Given the description of an element on the screen output the (x, y) to click on. 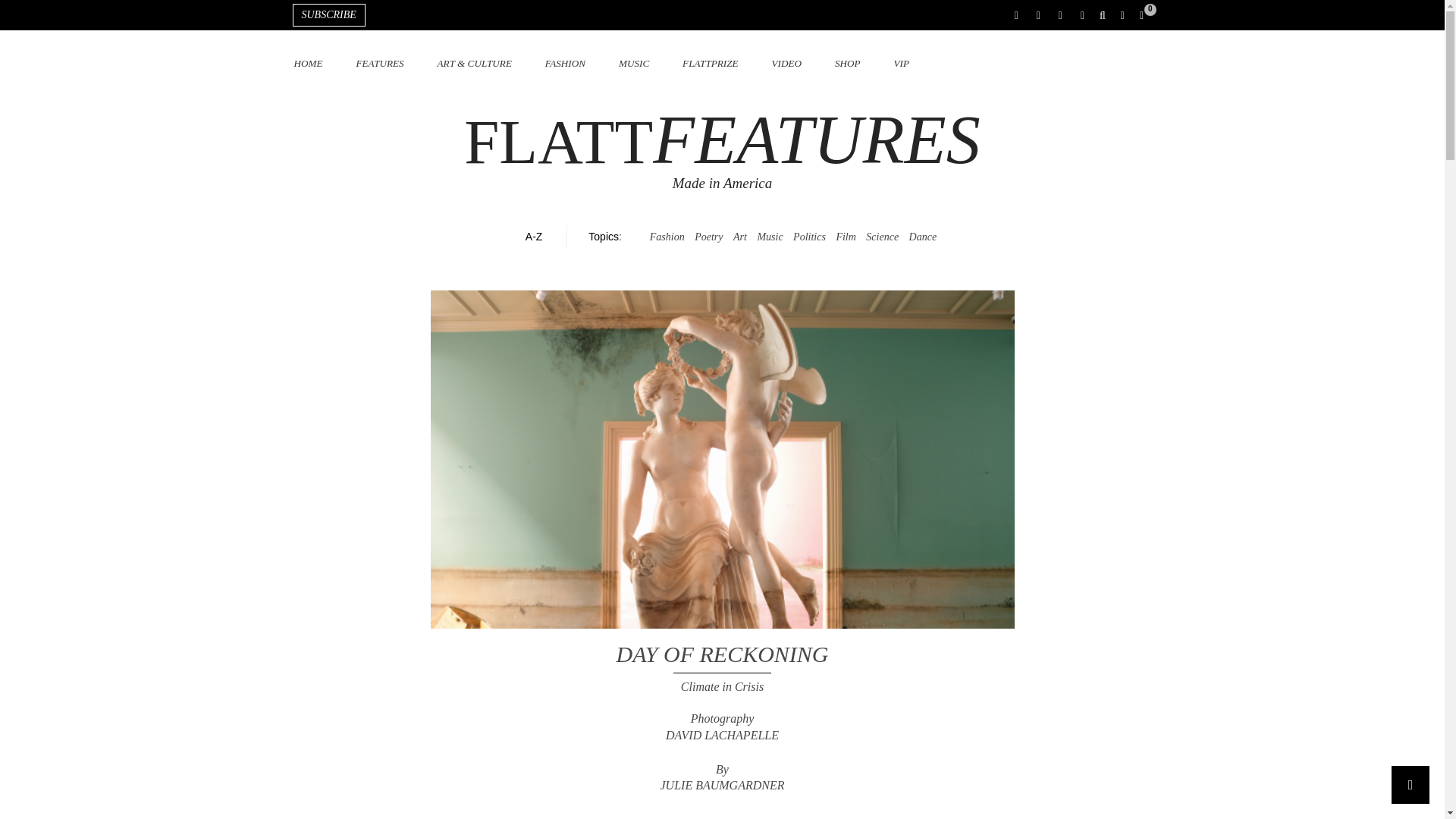
View your shopping cart (1149, 15)
0 (1149, 15)
SUBSCRIBE (328, 15)
